Given the description of an element on the screen output the (x, y) to click on. 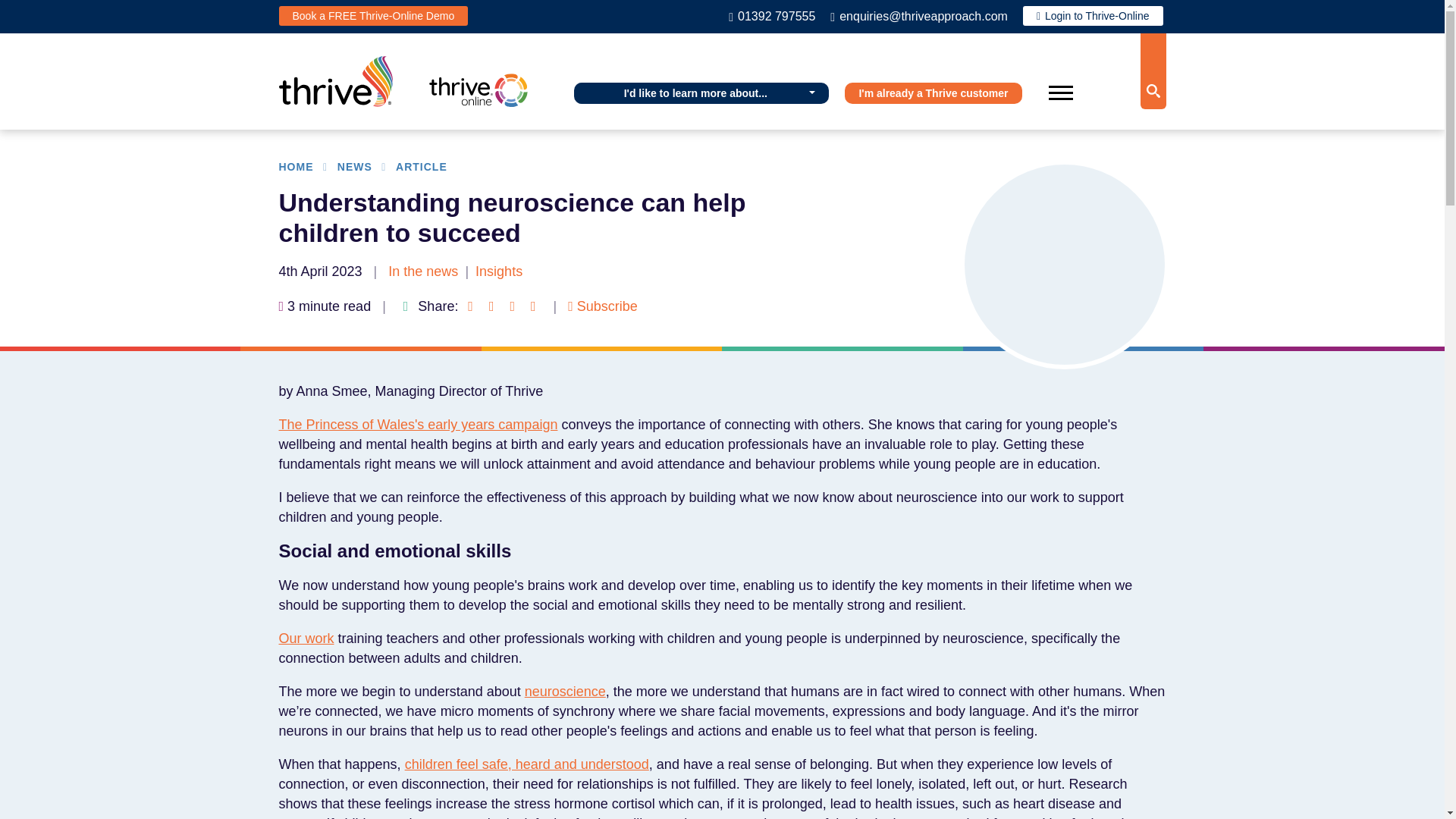
Login to Thrive-Online (1093, 15)
Share on Facebook (470, 305)
I'm already a Thrive customer (933, 93)
Book a FREE Thrive-Online Demo (373, 15)
Share on Twitter (512, 305)
01392 797555 (772, 15)
Share by email (532, 305)
I'd like to learn more about... (701, 93)
Share on LinkedIn (491, 305)
